Given the description of an element on the screen output the (x, y) to click on. 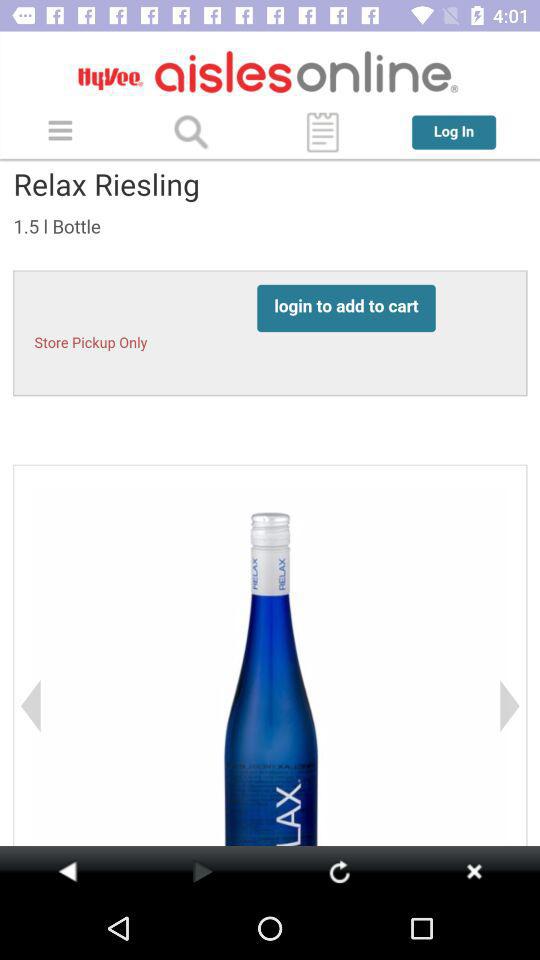
go to previous (202, 871)
